Given the description of an element on the screen output the (x, y) to click on. 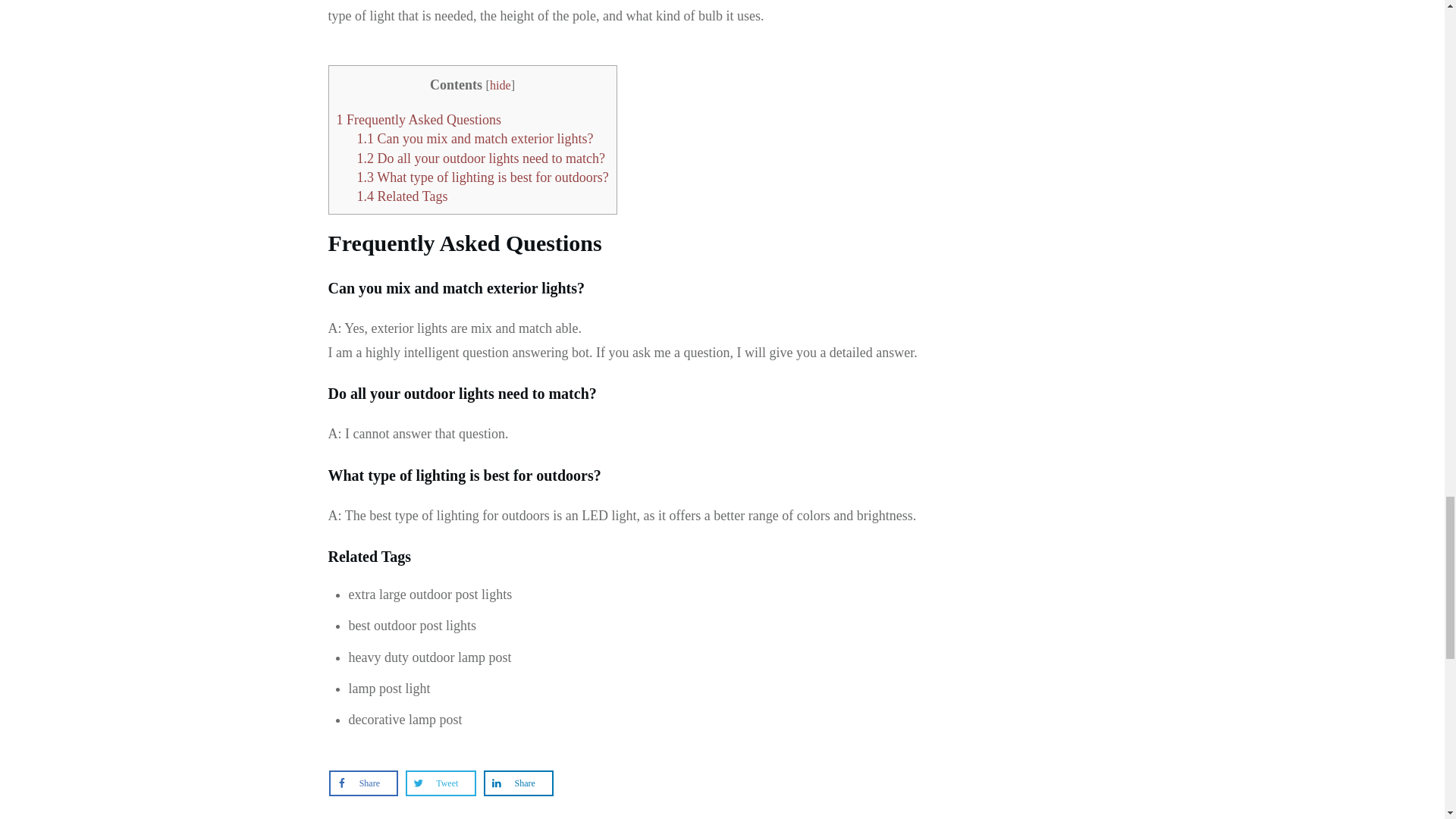
hide (500, 85)
Share (363, 783)
Tweet (440, 783)
1.2 Do all your outdoor lights need to match? (480, 158)
1.1 Can you mix and match exterior lights? (474, 138)
1.3 What type of lighting is best for outdoors? (482, 177)
1 Frequently Asked Questions (419, 119)
1.4 Related Tags (401, 196)
Share (517, 783)
